Given the description of an element on the screen output the (x, y) to click on. 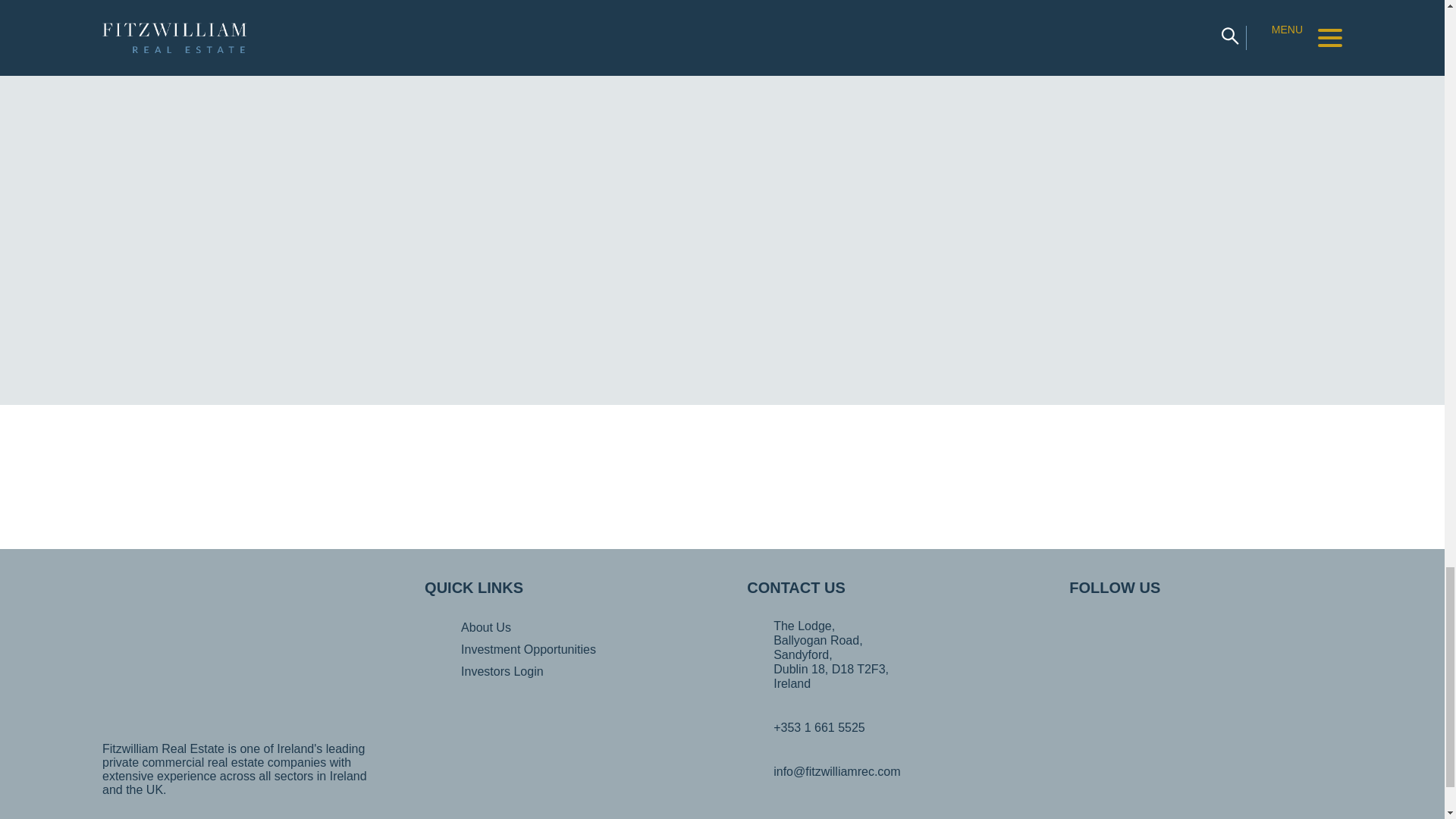
About Us (486, 626)
Investors Login (502, 671)
Investment Opportunities (528, 649)
